Given the description of an element on the screen output the (x, y) to click on. 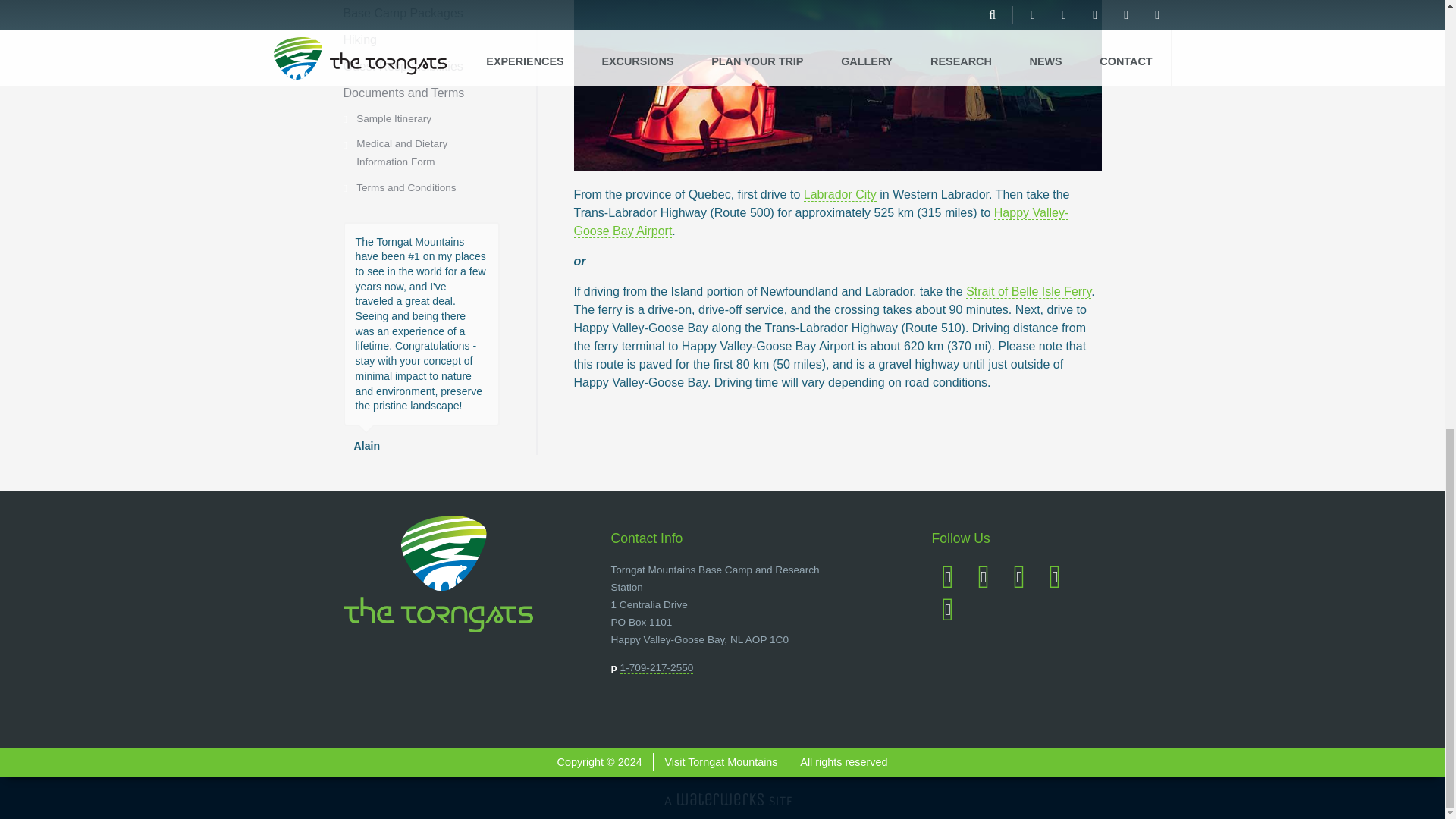
Happy Valley-Goose Bay Airport (820, 222)
Hiking (358, 39)
Documents and Terms (403, 92)
Strait of Belle Isle Ferry (1028, 291)
Guest Responsibilities (402, 65)
Labrador City (839, 194)
Base Camp Packages (402, 12)
